Given the description of an element on the screen output the (x, y) to click on. 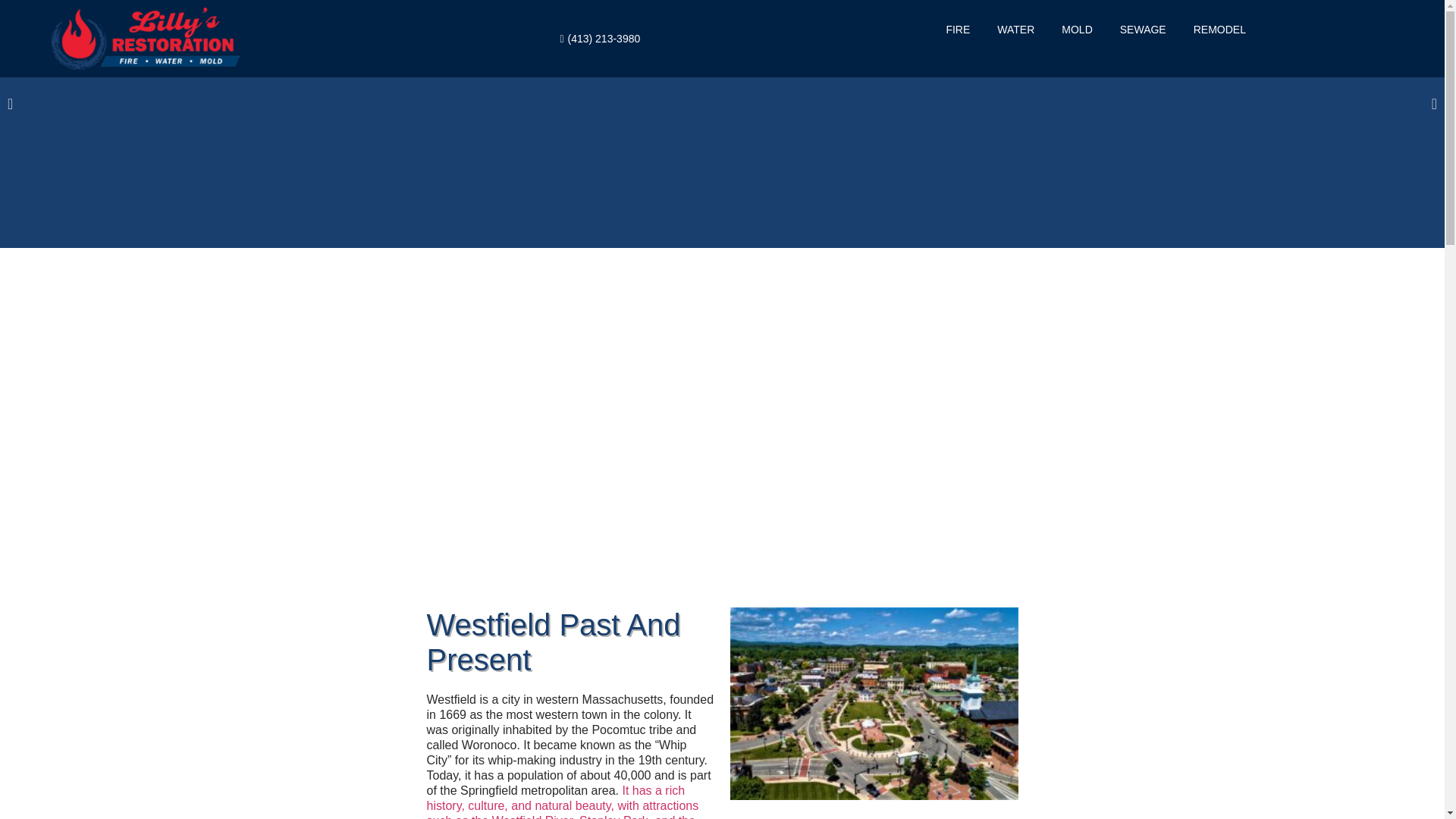
REMODEL (1219, 29)
CALL NOW (767, 536)
FIRE (956, 29)
MOLD (1076, 29)
SEWAGE (1142, 29)
WATER (1015, 29)
Call Now! (723, 574)
